Given the description of an element on the screen output the (x, y) to click on. 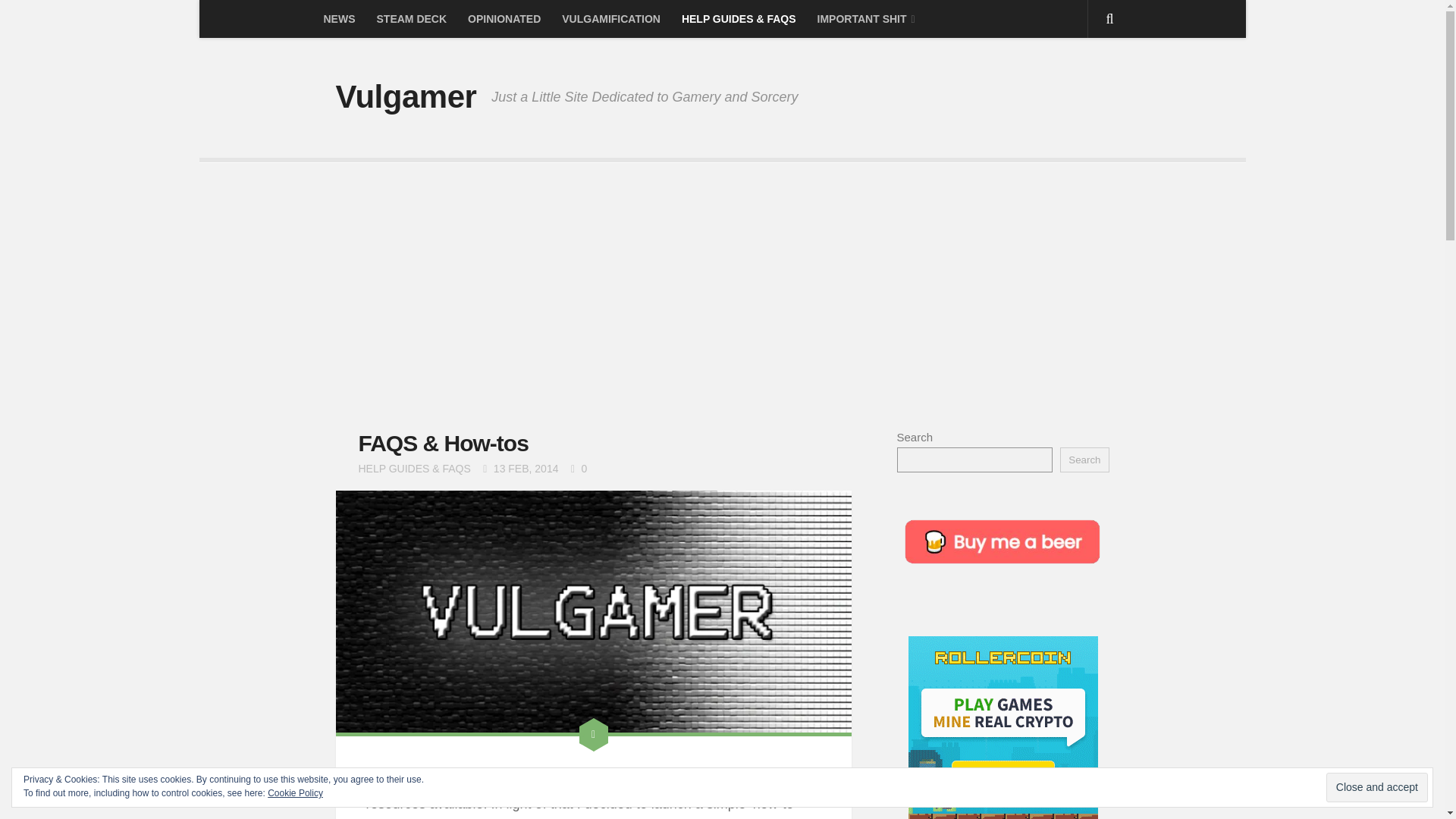
0 (576, 468)
STEAM DECK (411, 18)
Close and accept (1377, 787)
OPINIONATED (504, 18)
IMPORTANT SHIT (866, 18)
Vulgamer (405, 96)
NEWS (339, 18)
VULGAMIFICATION (611, 18)
